Given the description of an element on the screen output the (x, y) to click on. 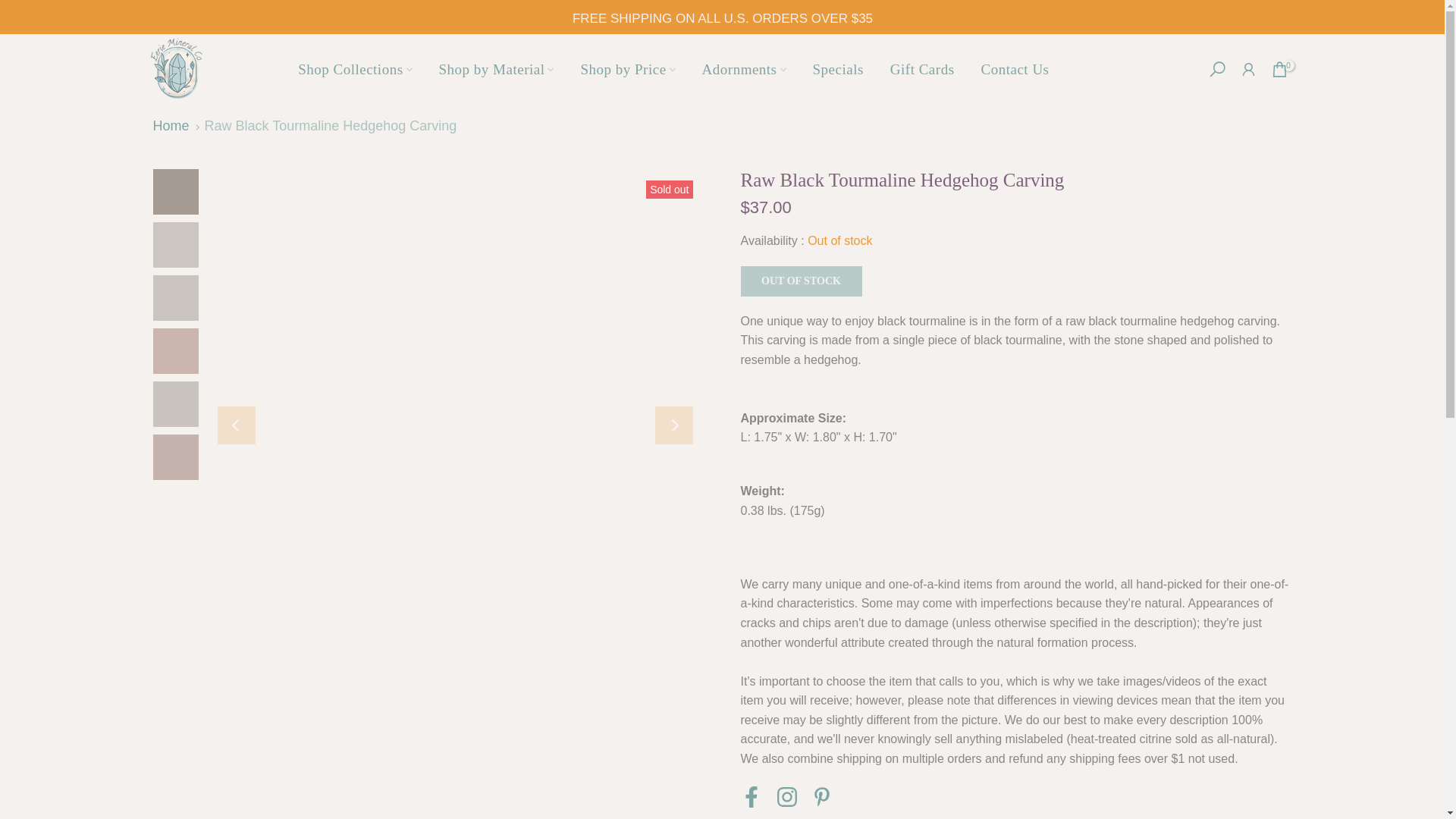
Skip to content (10, 7)
Shop by Material (496, 69)
Shop Collections (355, 69)
